Given the description of an element on the screen output the (x, y) to click on. 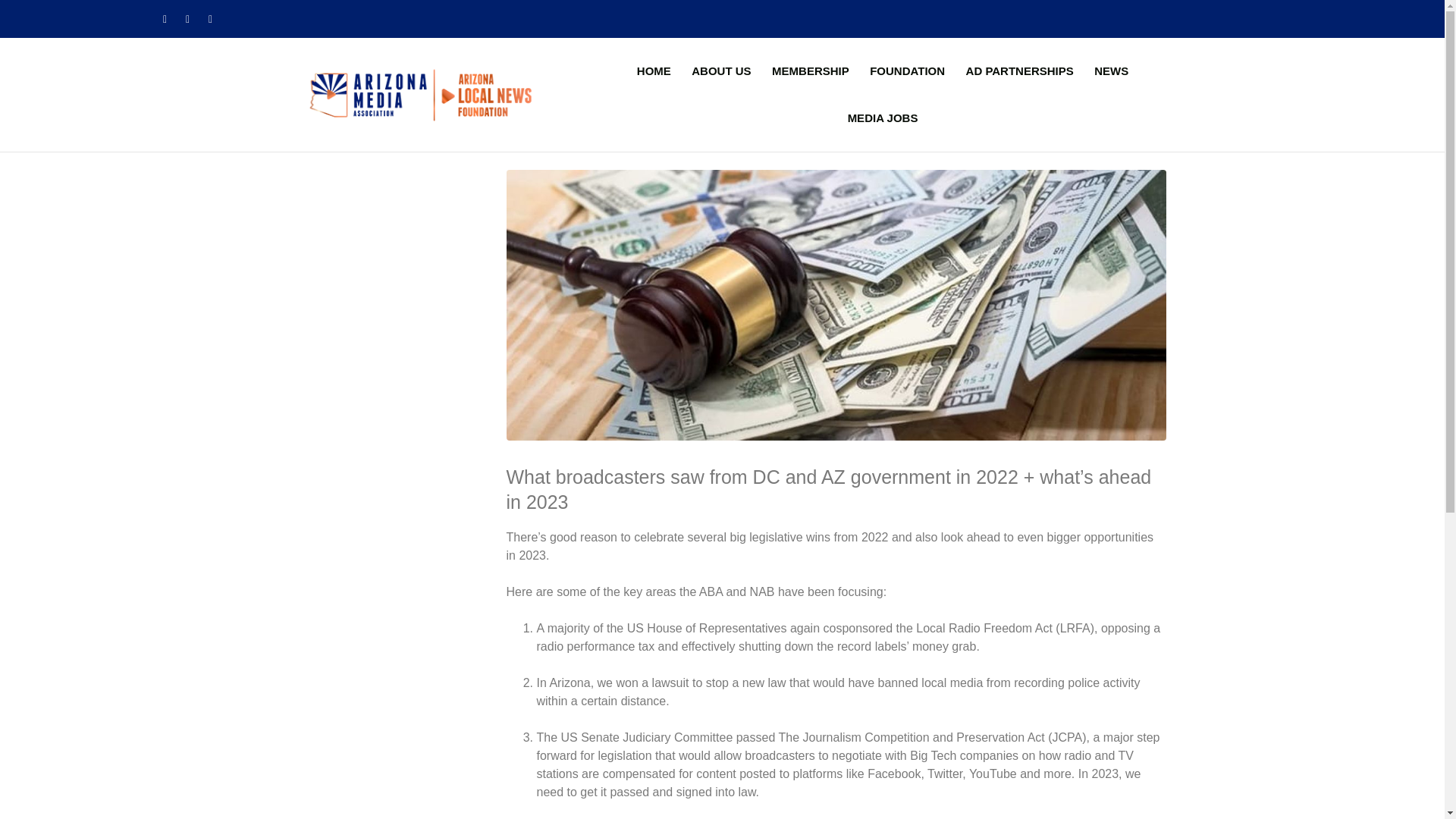
MEDIA JOBS (879, 118)
ABOUT US (717, 71)
FOUNDATION (903, 71)
NEWS (1107, 71)
MEMBERSHIP (807, 71)
AD PARTNERSHIPS (1015, 71)
HOME (650, 71)
